Given the description of an element on the screen output the (x, y) to click on. 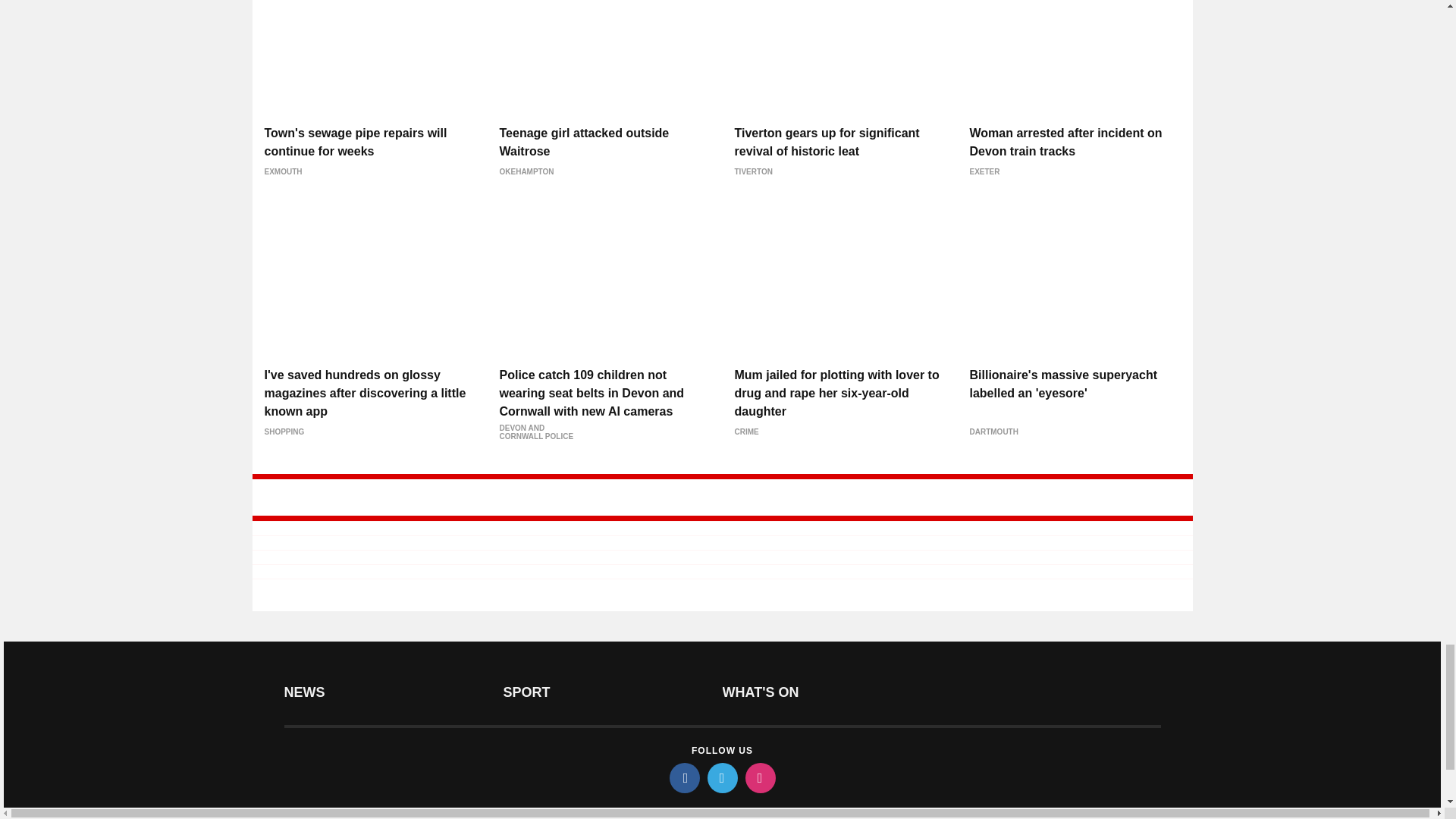
twitter (721, 777)
instagram (759, 777)
facebook (683, 777)
